Given the description of an element on the screen output the (x, y) to click on. 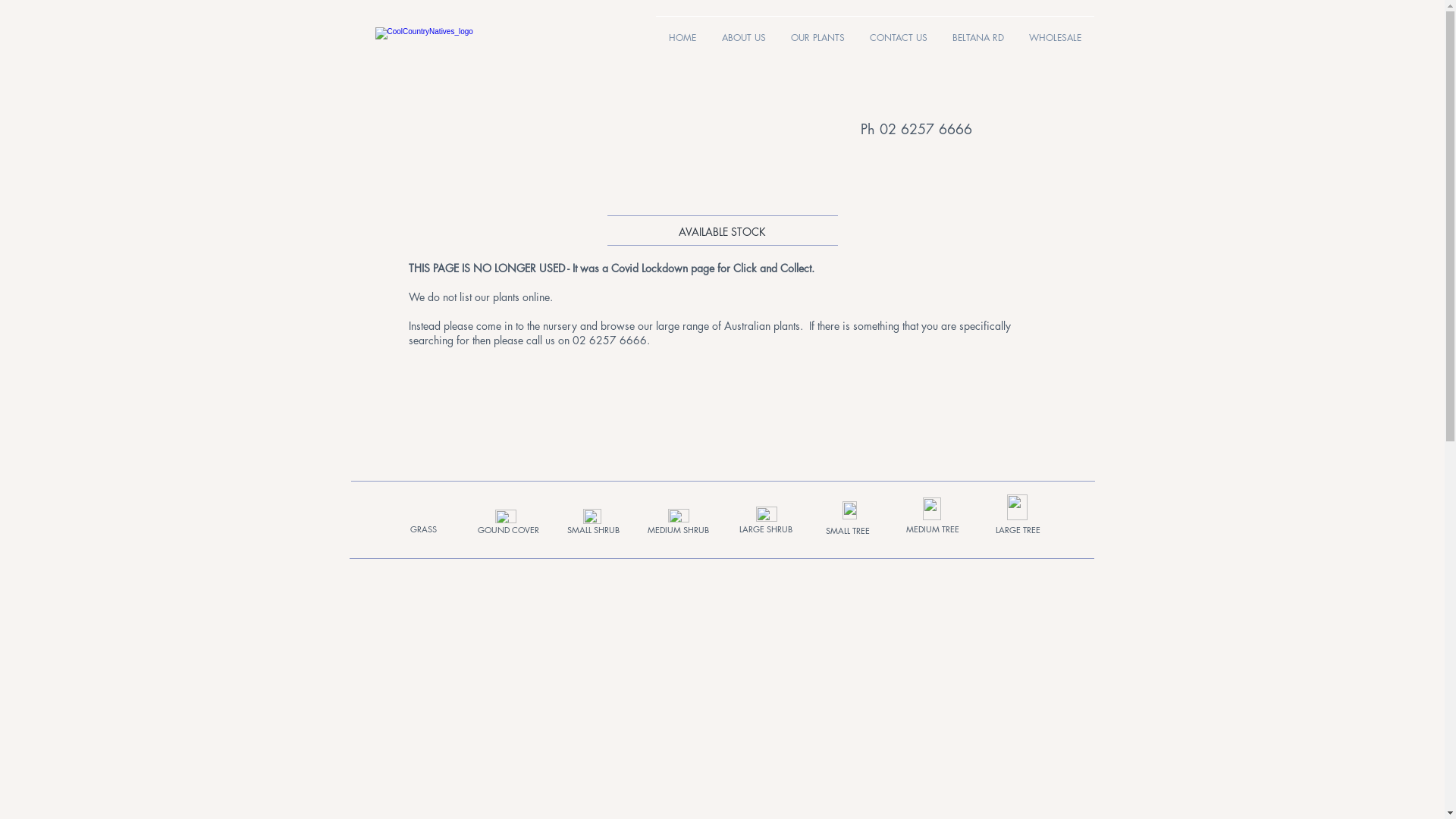
WHOLESALE Element type: text (1054, 30)
ABOUT US Element type: text (743, 30)
OUR PLANTS Element type: text (817, 30)
CONTACT US Element type: text (897, 30)
HOME Element type: text (681, 30)
BELTANA RD Element type: text (978, 30)
